Given the description of an element on the screen output the (x, y) to click on. 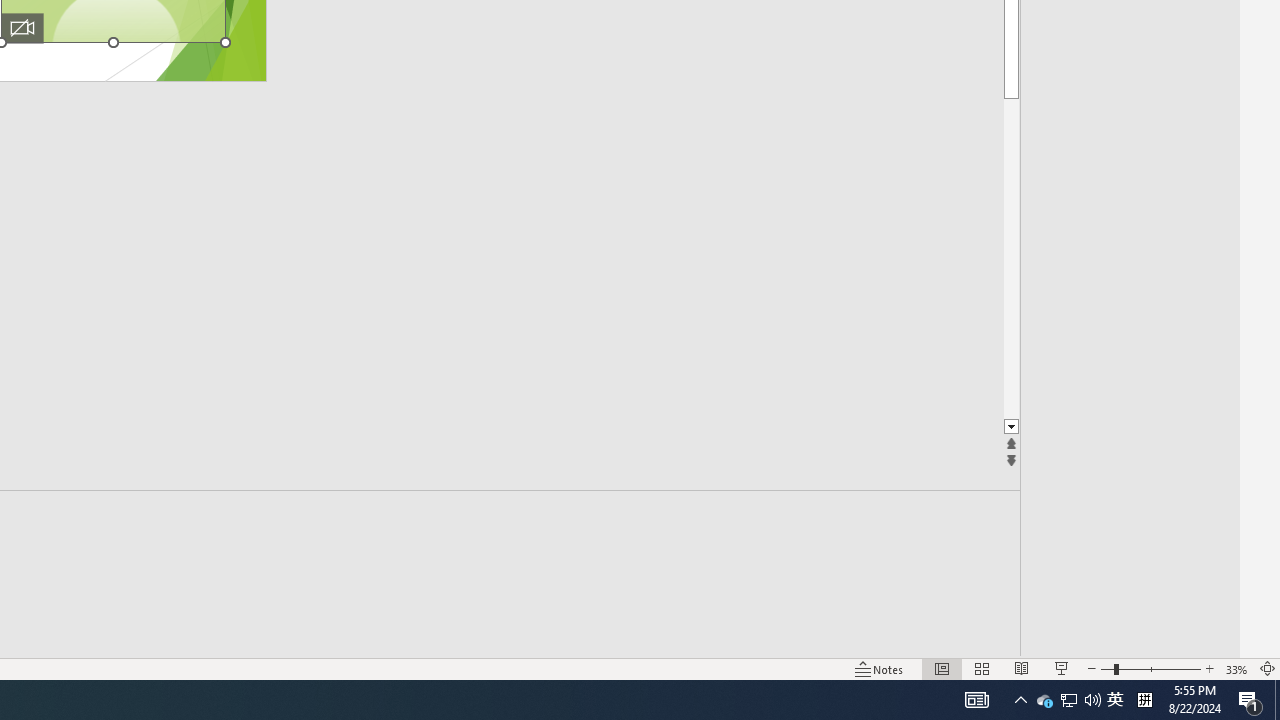
Zoom 33% (1236, 668)
